Given the description of an element on the screen output the (x, y) to click on. 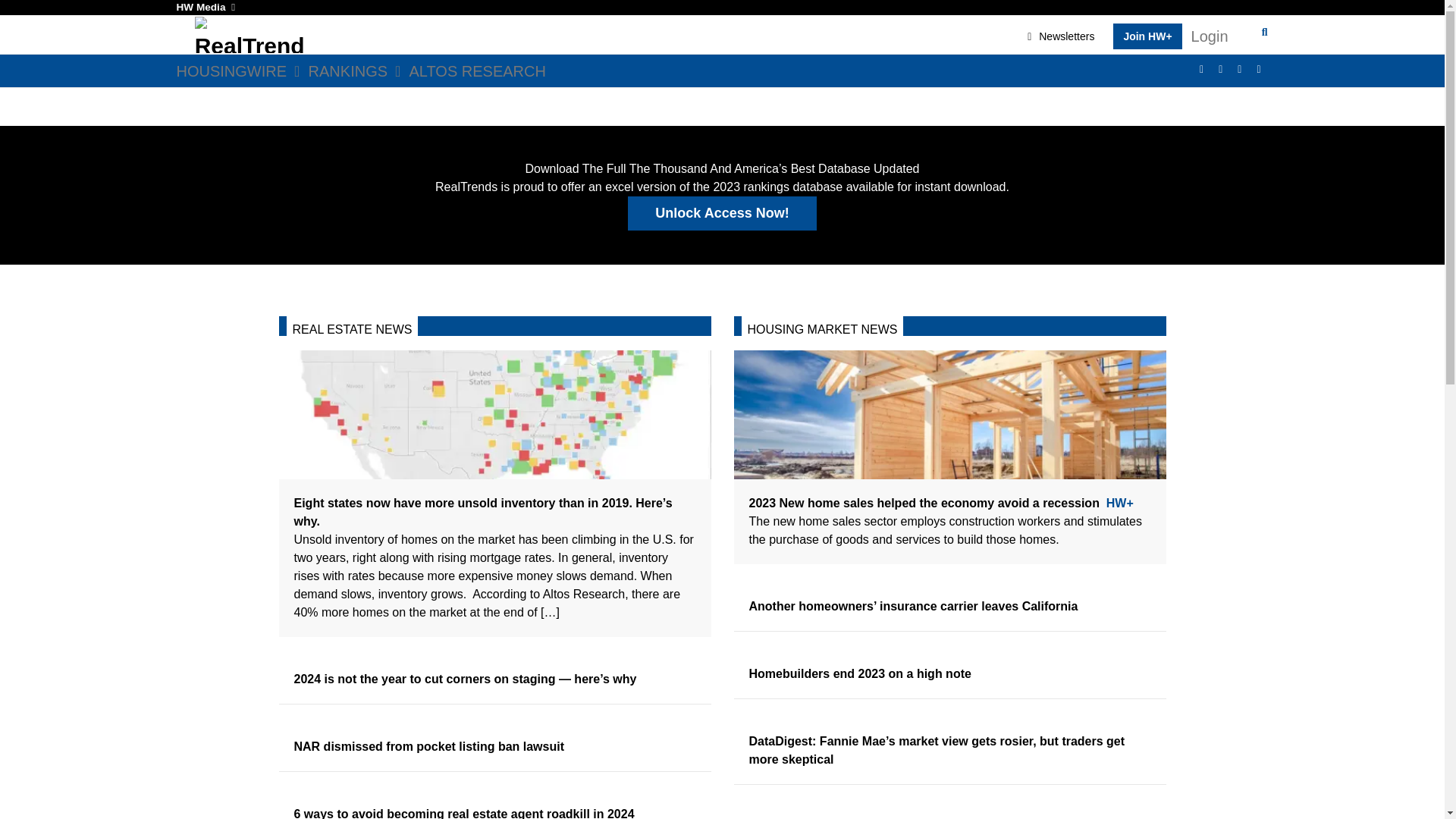
Newsletters (1060, 36)
Login (1209, 36)
HOUSINGWIRE (241, 70)
